Given the description of an element on the screen output the (x, y) to click on. 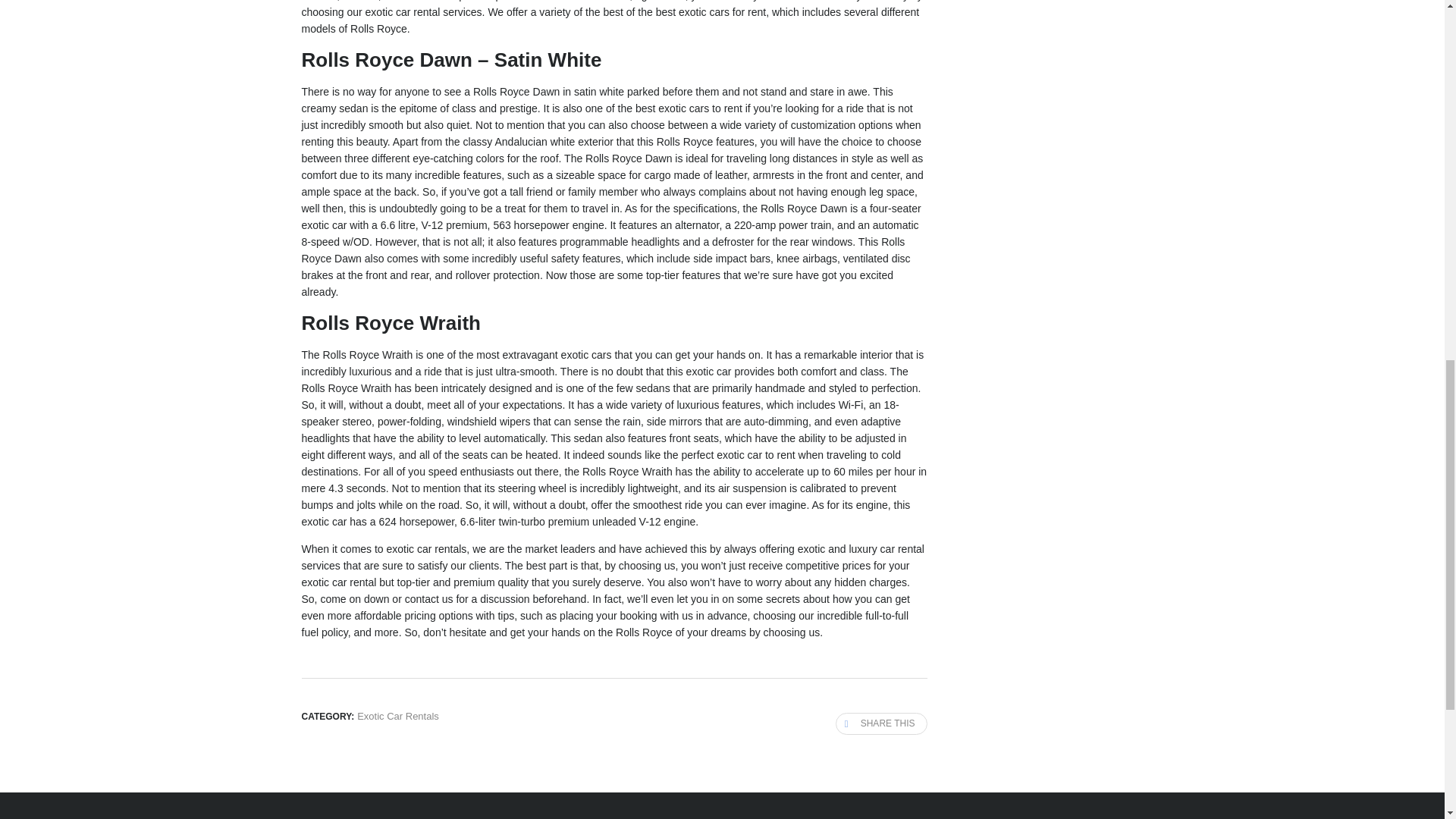
Exotic Car Rentals (397, 715)
Share this (881, 723)
SHARE THIS (881, 723)
